Given the description of an element on the screen output the (x, y) to click on. 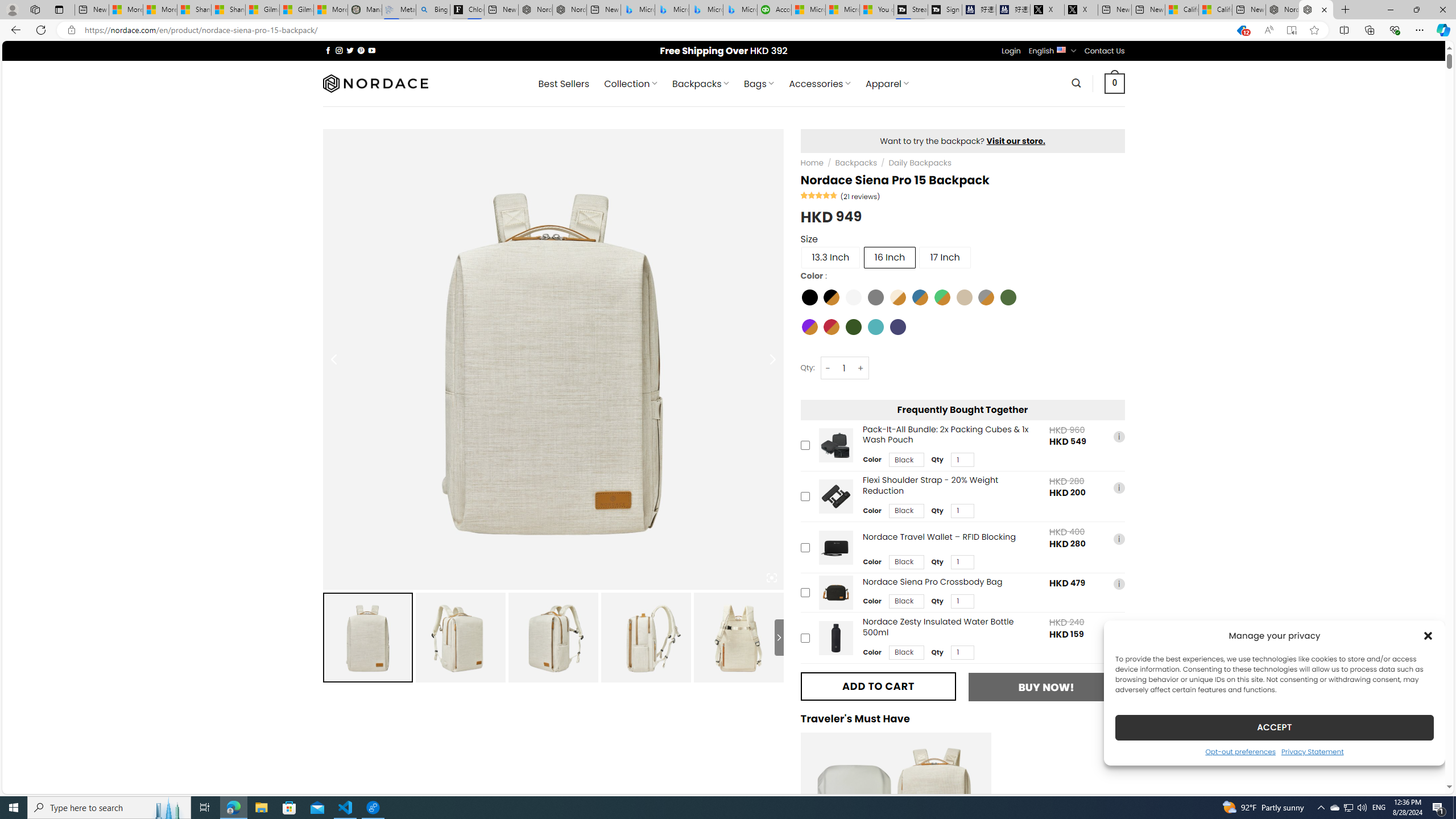
Nordace Zesty Insulated Water Bottle 500ml (835, 637)
Nordace Siena Pro 15 Backpack quantity (843, 368)
Nordace - #1 Japanese Best-Seller - Siena Smart Backpack (569, 9)
Privacy Statement (1312, 750)
English (1061, 49)
Home (812, 162)
BUY NOW! (1046, 687)
